Given the description of an element on the screen output the (x, y) to click on. 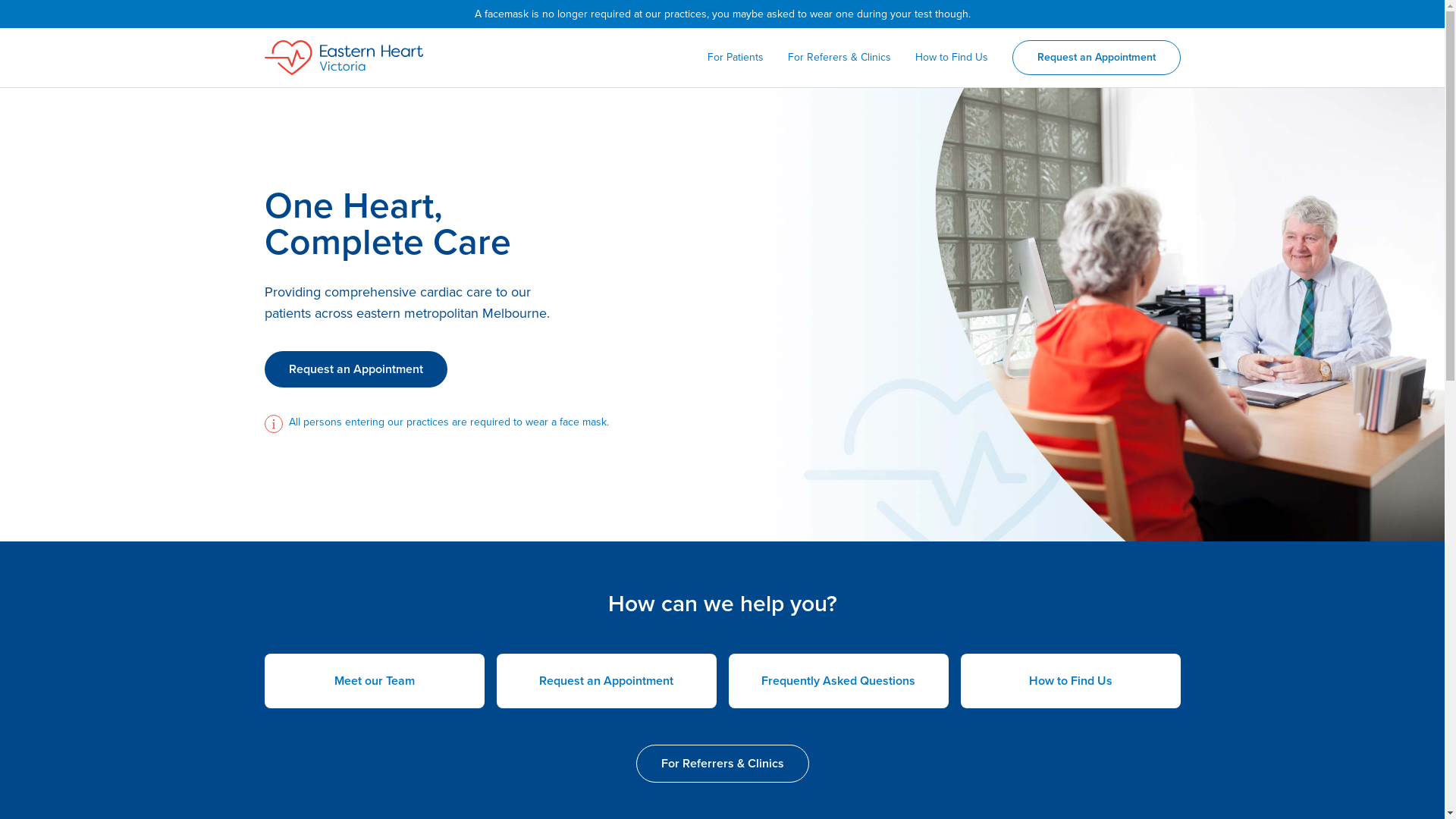
For Referrers & Clinics Element type: text (721, 763)
For Referers & Clinics Element type: text (838, 57)
Request an Appointment Element type: text (605, 680)
Request an Appointment Element type: text (354, 369)
Meet our Team Element type: text (373, 680)
Frequently Asked Questions Element type: text (837, 680)
For Patients Element type: text (734, 57)
How to Find Us Element type: text (950, 57)
Request an Appointment Element type: text (1095, 57)
How to Find Us Element type: text (1069, 680)
Eastern Heart Victoria Element type: text (342, 57)
